Given the description of an element on the screen output the (x, y) to click on. 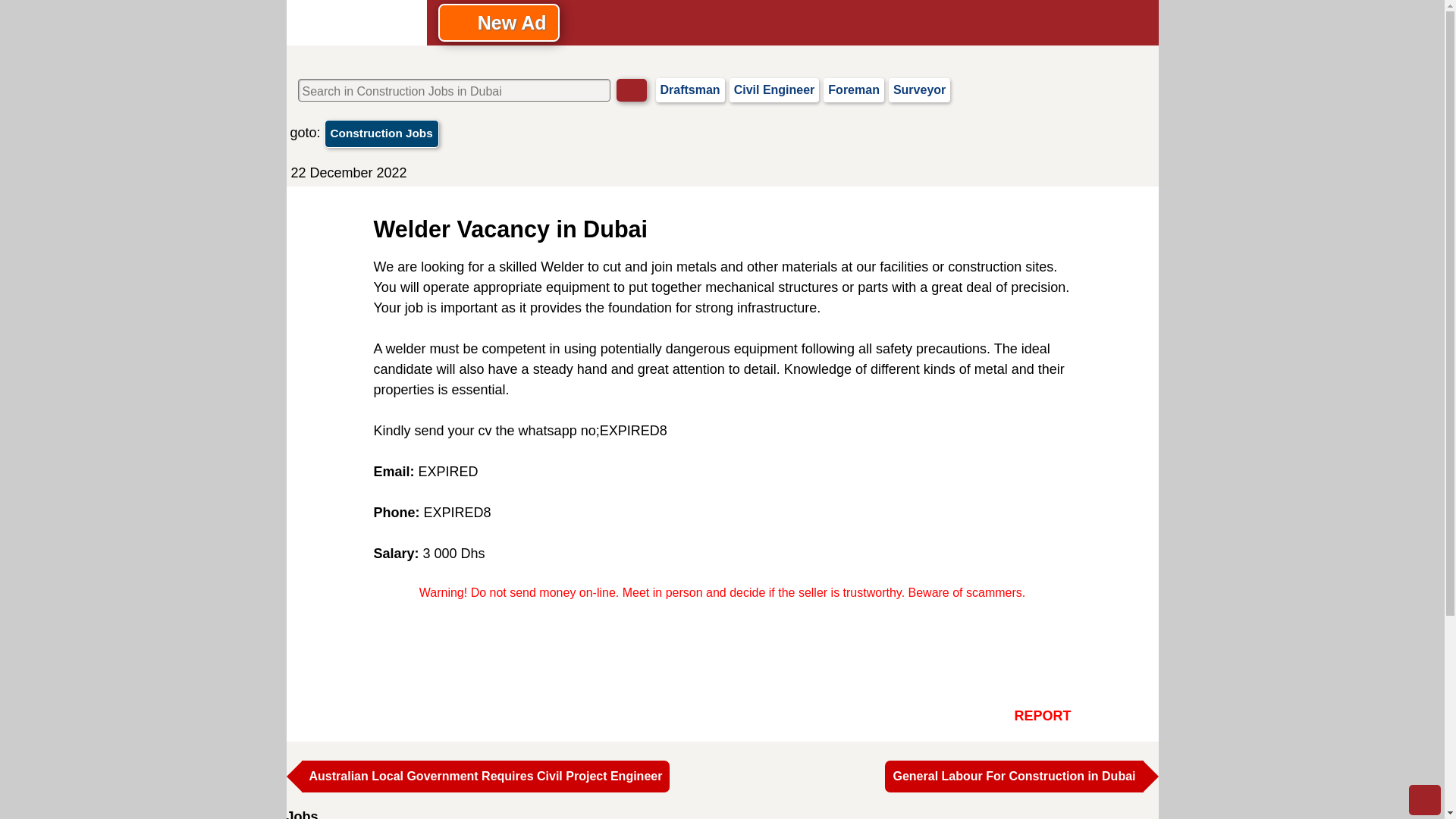
General Labour For Construction in Dubai (1013, 776)
Draftsman (689, 89)
Surveyor (919, 89)
Construction Jobs (381, 133)
Australian Local Government Requires Civil Project Engineer (485, 776)
Civil Engineer (774, 89)
Create a new advert on Dubai-BB FREE (498, 22)
Construction Jobs in Dubai, United Arab Emirates (381, 133)
Foreman (853, 89)
Dubai Bulletin Board - The Dubai Classifieds (356, 22)
